Given the description of an element on the screen output the (x, y) to click on. 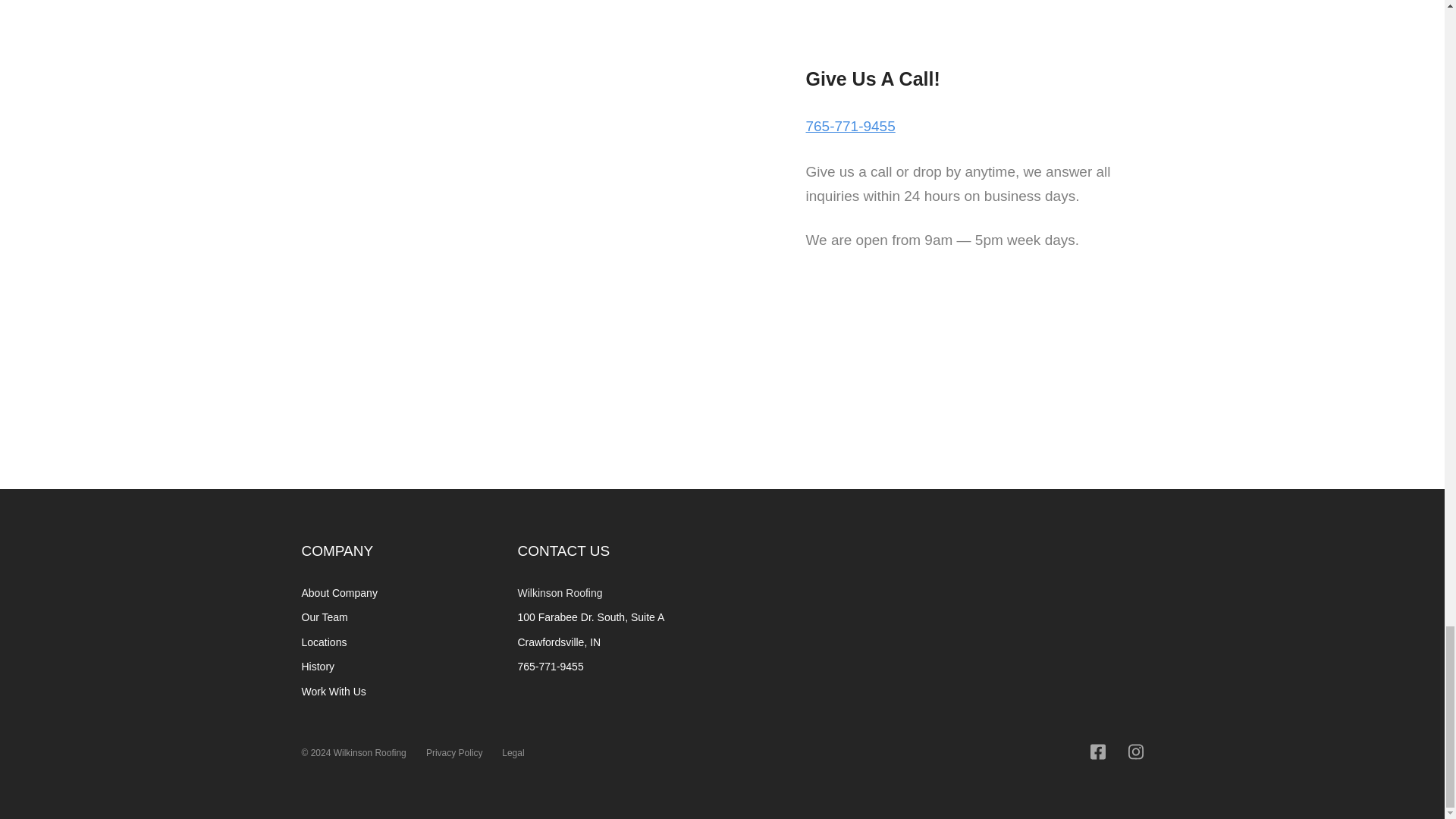
Locations (324, 642)
Legal (513, 752)
Click to Call! (549, 666)
765-771-9455 (549, 666)
About Company (339, 592)
Work With Us (589, 629)
765-771-9455 (333, 691)
Click to Call! (850, 125)
Our Team (850, 125)
